Given the description of an element on the screen output the (x, y) to click on. 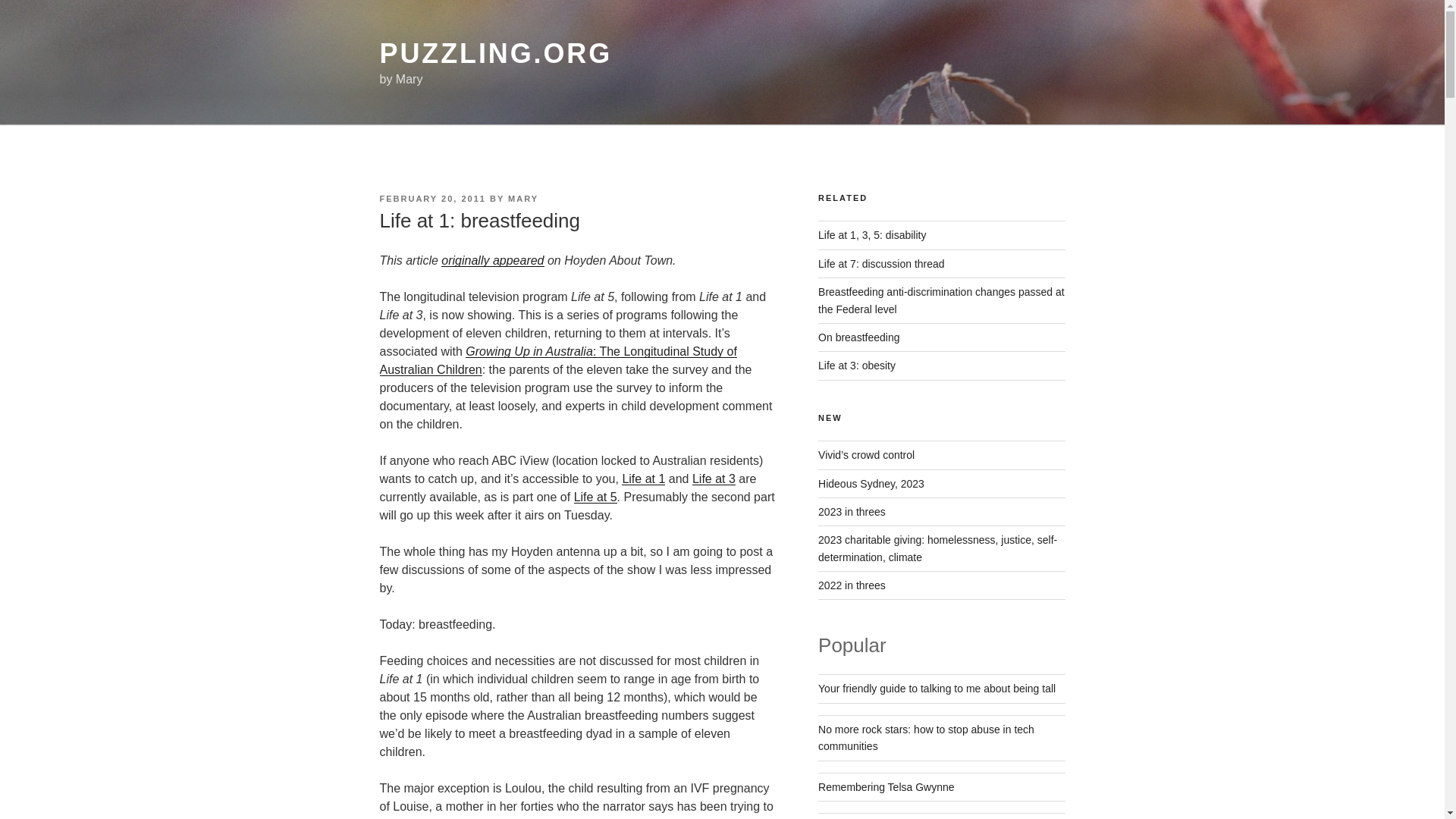
Life at 1 (643, 478)
2022 in threes (851, 585)
Life at 3: obesity (856, 365)
Life at 5 (595, 496)
On breastfeeding (858, 337)
Life at 3 (714, 478)
Remembering Telsa Gwynne (886, 787)
2023 in threes (851, 511)
originally appeared (492, 259)
Life at 1, 3, 5: disability (872, 234)
Life at 7: discussion thread (881, 263)
MARY (523, 198)
On breastfeeding (858, 337)
